Given the description of an element on the screen output the (x, y) to click on. 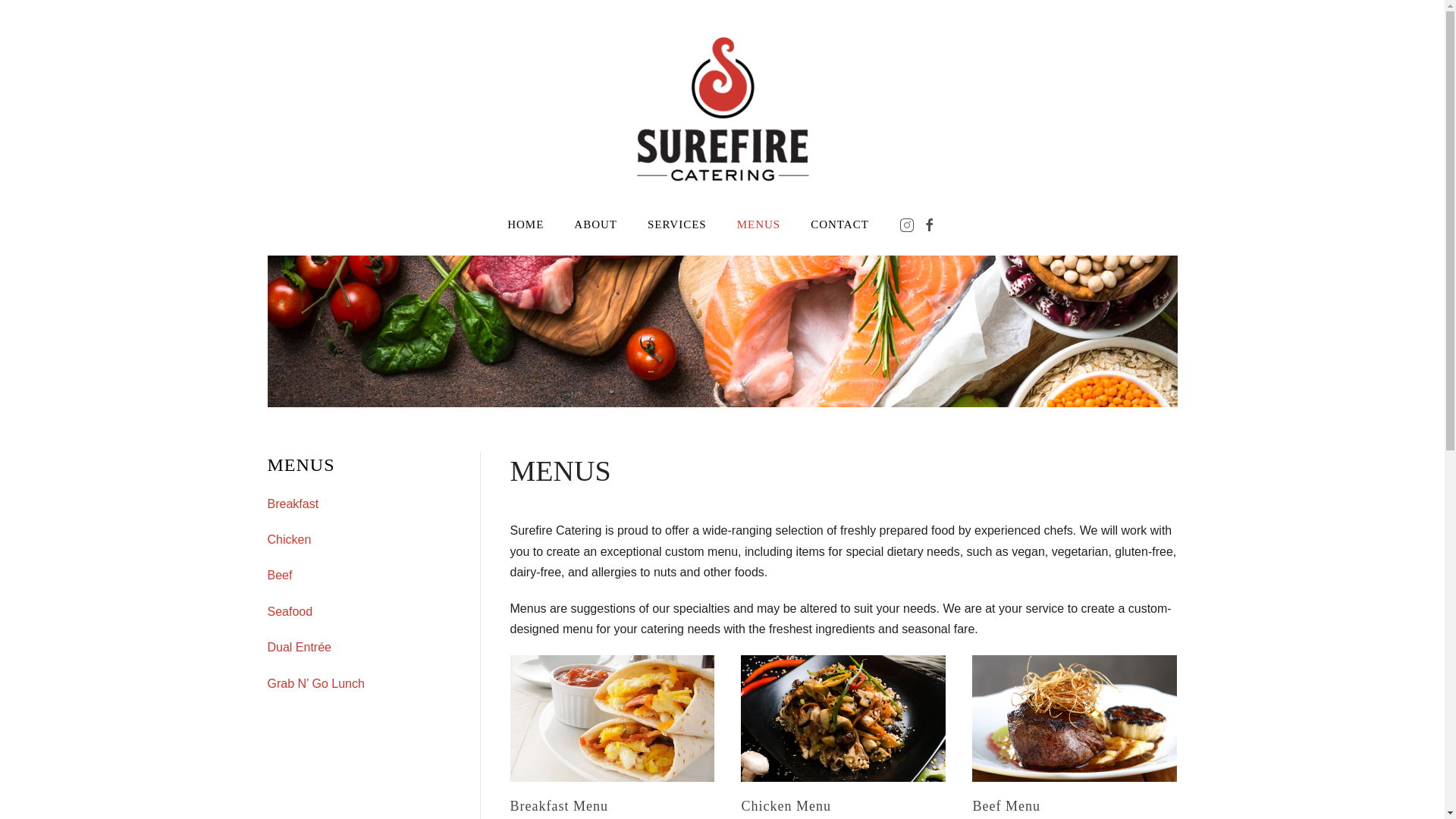
Beef (279, 574)
MENUS (759, 224)
Seafood (289, 611)
Chicken (288, 539)
Breakfast (292, 503)
HOME (525, 224)
CONTACT (838, 224)
SERVICES (676, 224)
ABOUT (595, 224)
